Given the description of an element on the screen output the (x, y) to click on. 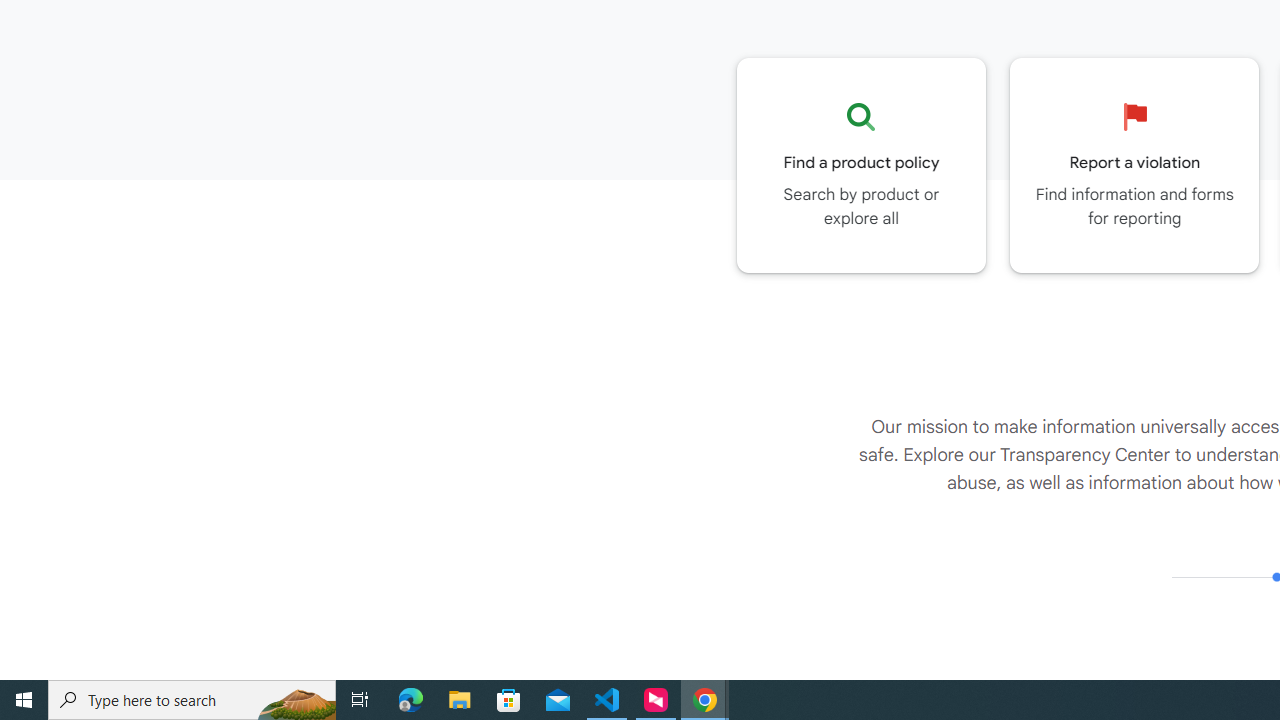
Go to the Product policy page (861, 165)
Go to the Reporting and appeals page (1134, 165)
